Given the description of an element on the screen output the (x, y) to click on. 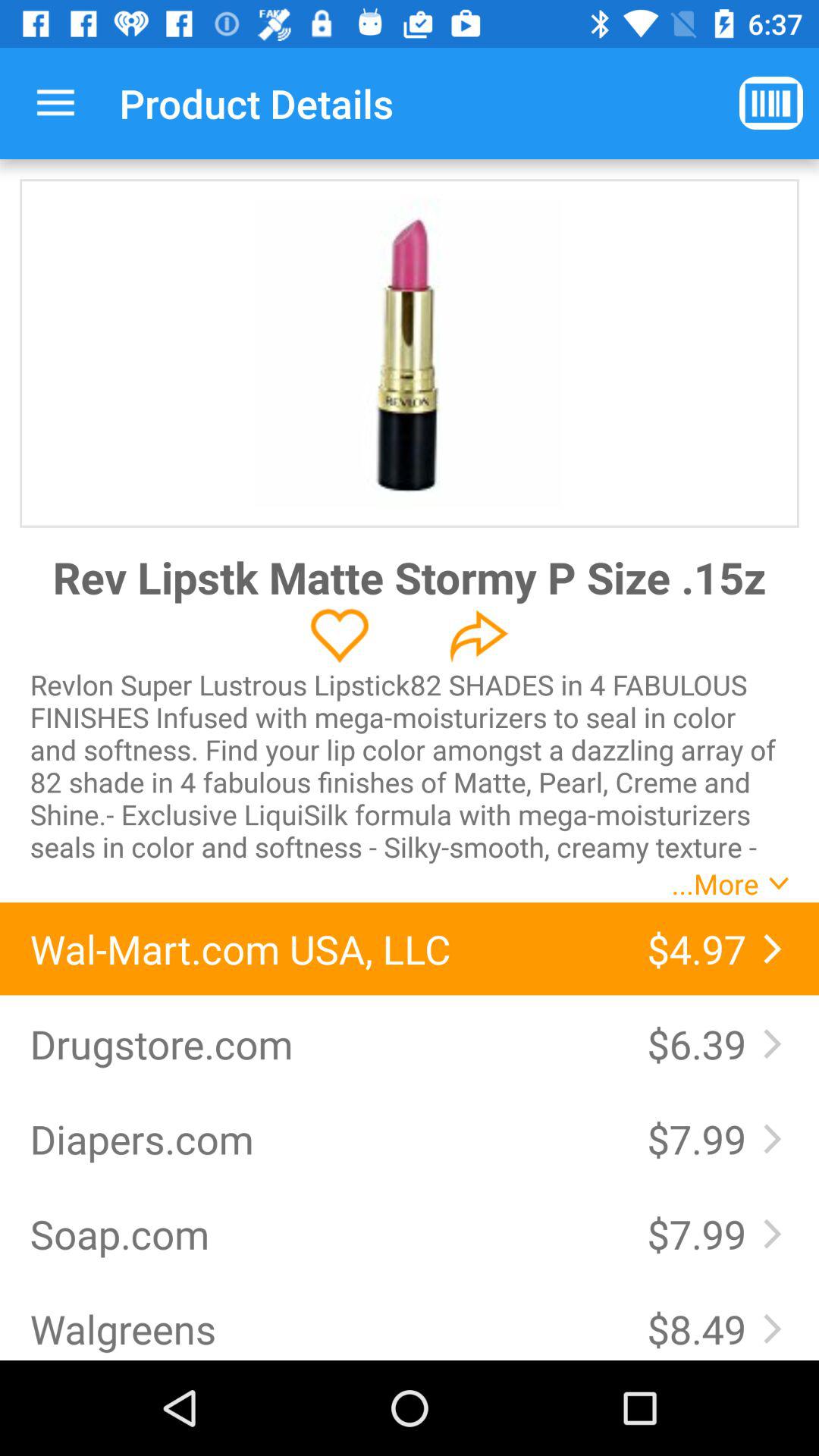
share the product (479, 636)
